Given the description of an element on the screen output the (x, y) to click on. 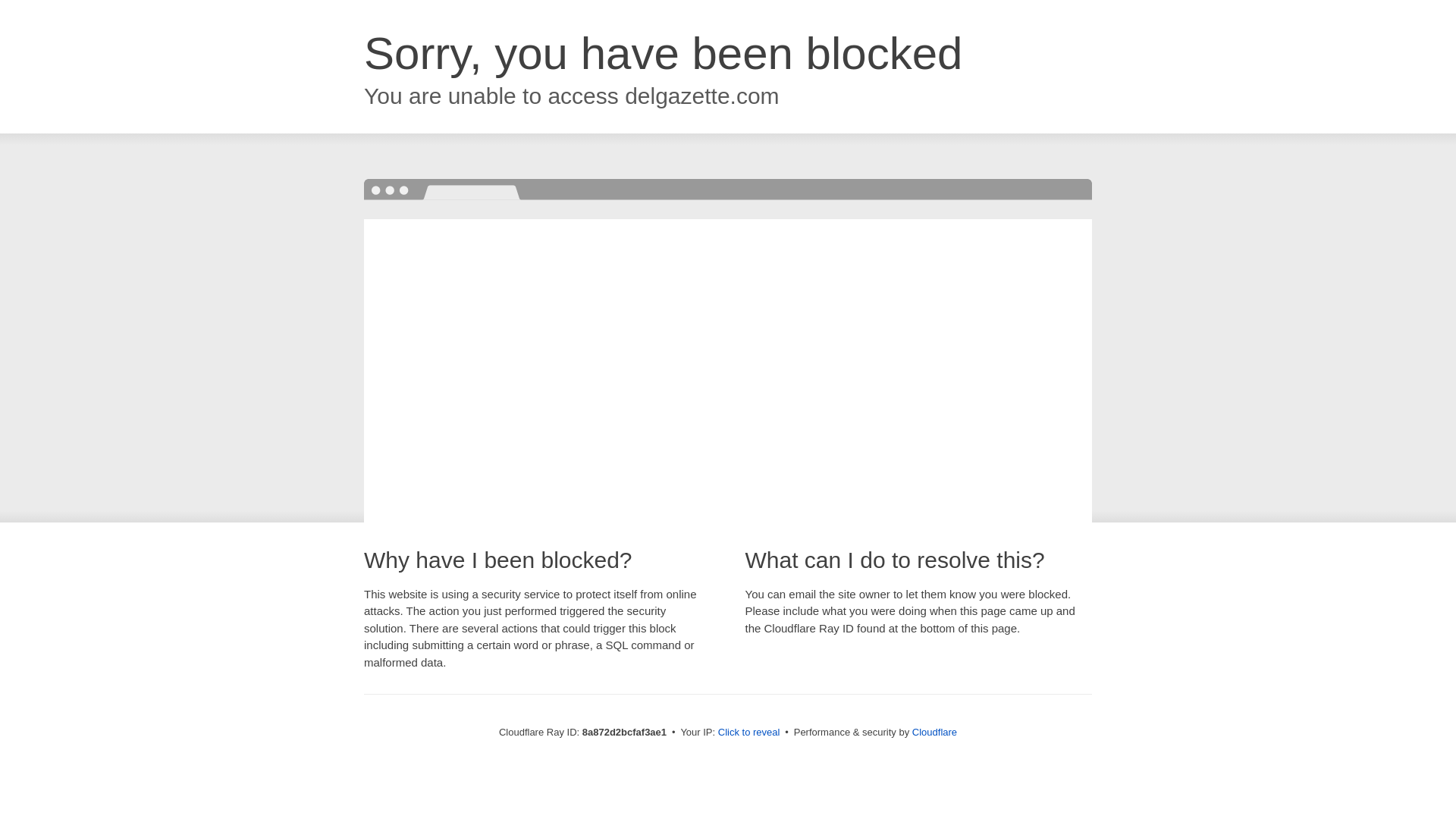
Cloudflare (934, 731)
Click to reveal (748, 732)
